Given the description of an element on the screen output the (x, y) to click on. 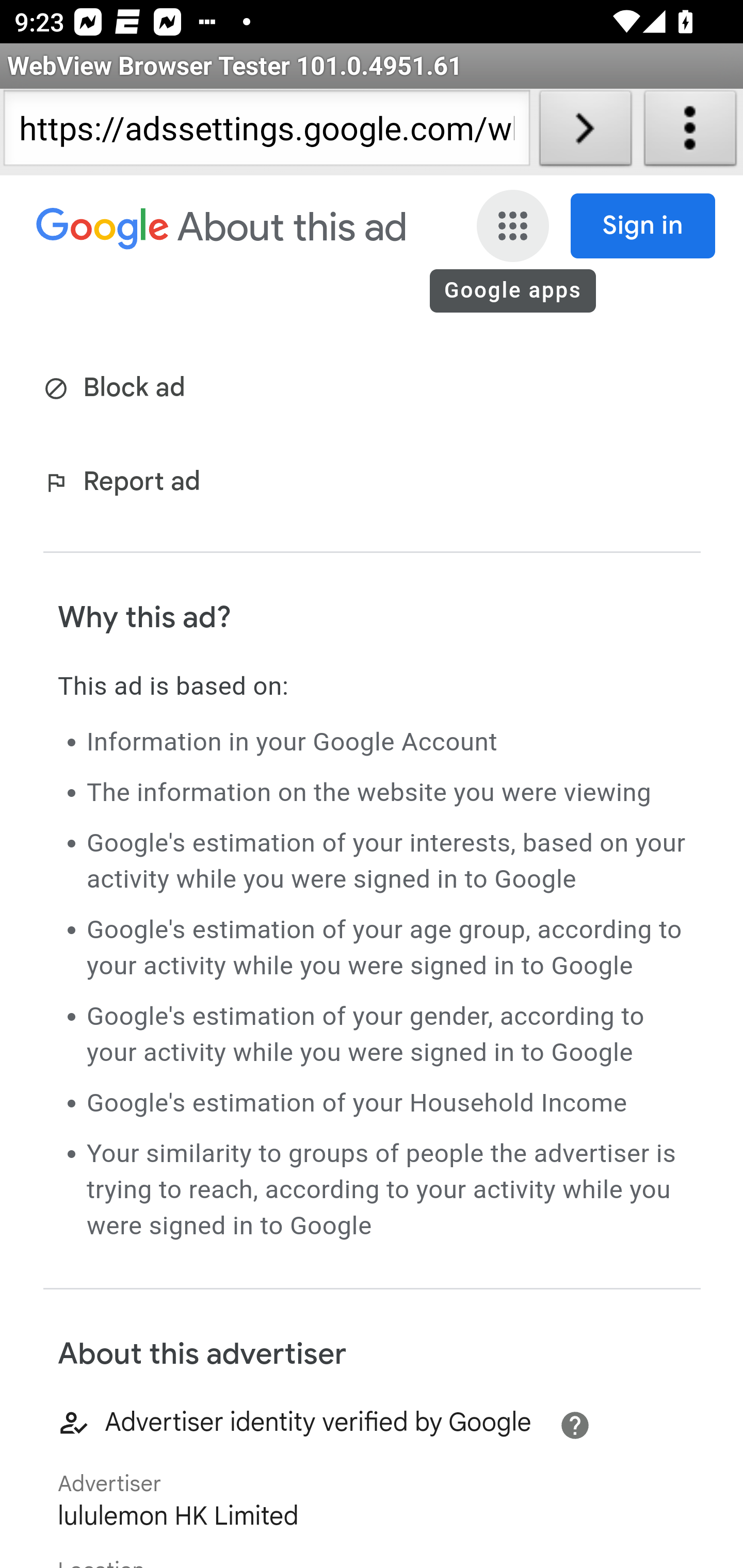
https://adssettings.google.com/whythisad (266, 132)
Load URL (585, 132)
About WebView (690, 132)
Google apps (513, 226)
Sign in (643, 226)
Block ad (117, 388)
Report ad (opens in new tab) Report ad (126, 483)
